Given the description of an element on the screen output the (x, y) to click on. 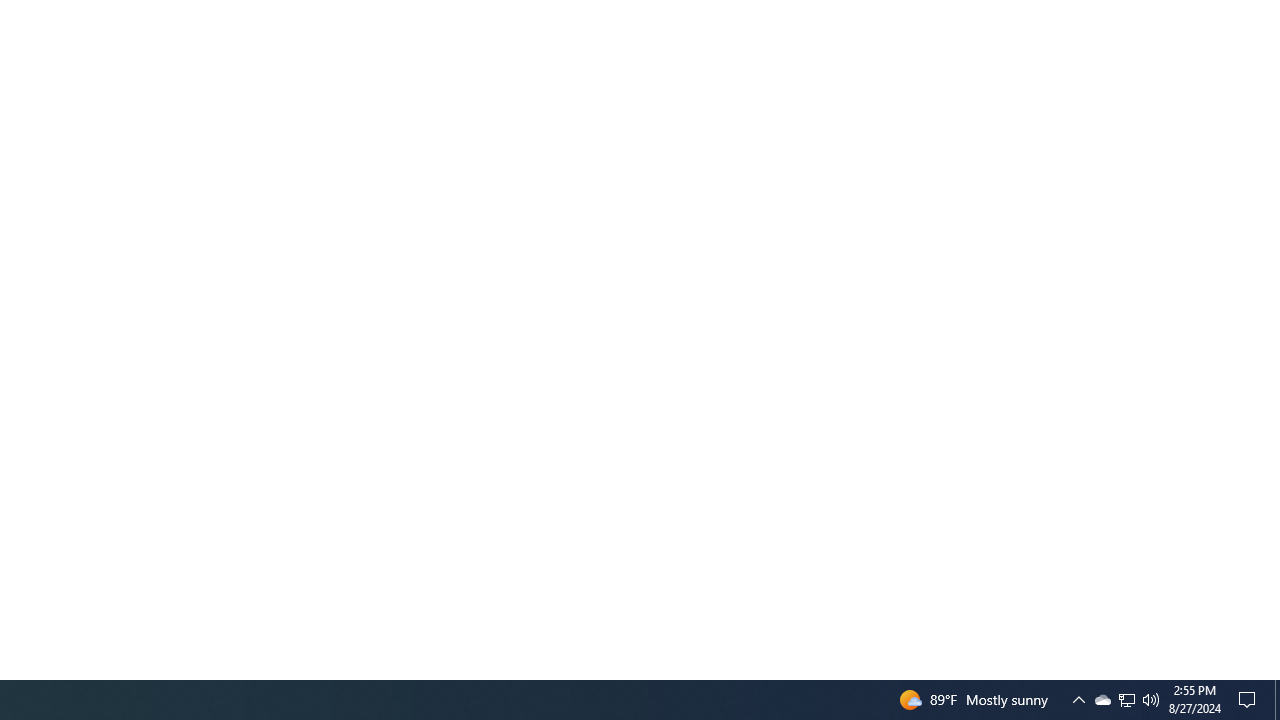
User Promoted Notification Area (1126, 699)
Action Center, No new notifications (1126, 699)
Notification Chevron (1250, 699)
Show desktop (1102, 699)
Q2790: 100% (1078, 699)
